Given the description of an element on the screen output the (x, y) to click on. 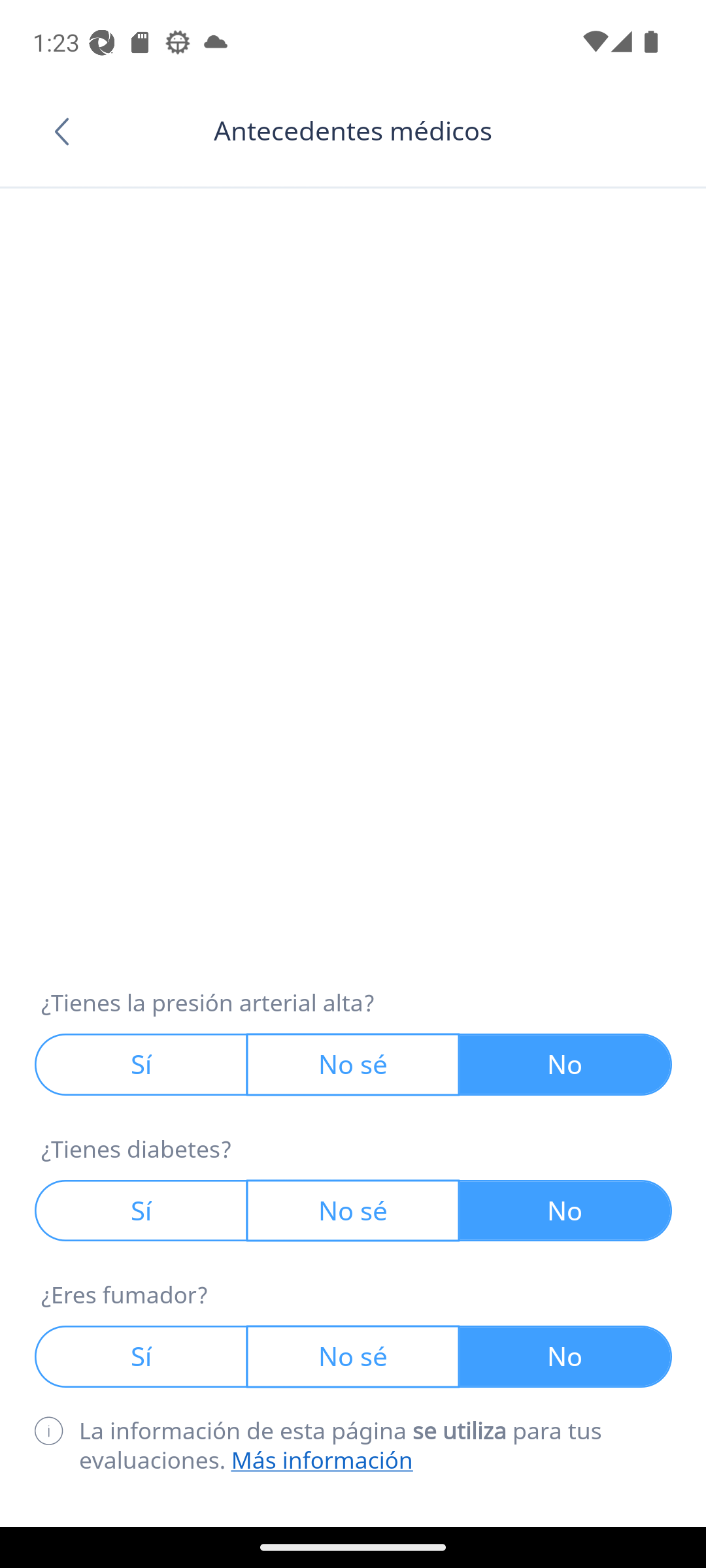
Go back, Navigates to the previous screen (68, 131)
Sí (140, 1064)
No sé (354, 1064)
No (566, 1064)
Sí (140, 1211)
No sé (354, 1211)
No (566, 1211)
Sí (140, 1356)
No sé (354, 1356)
No (566, 1356)
